Given the description of an element on the screen output the (x, y) to click on. 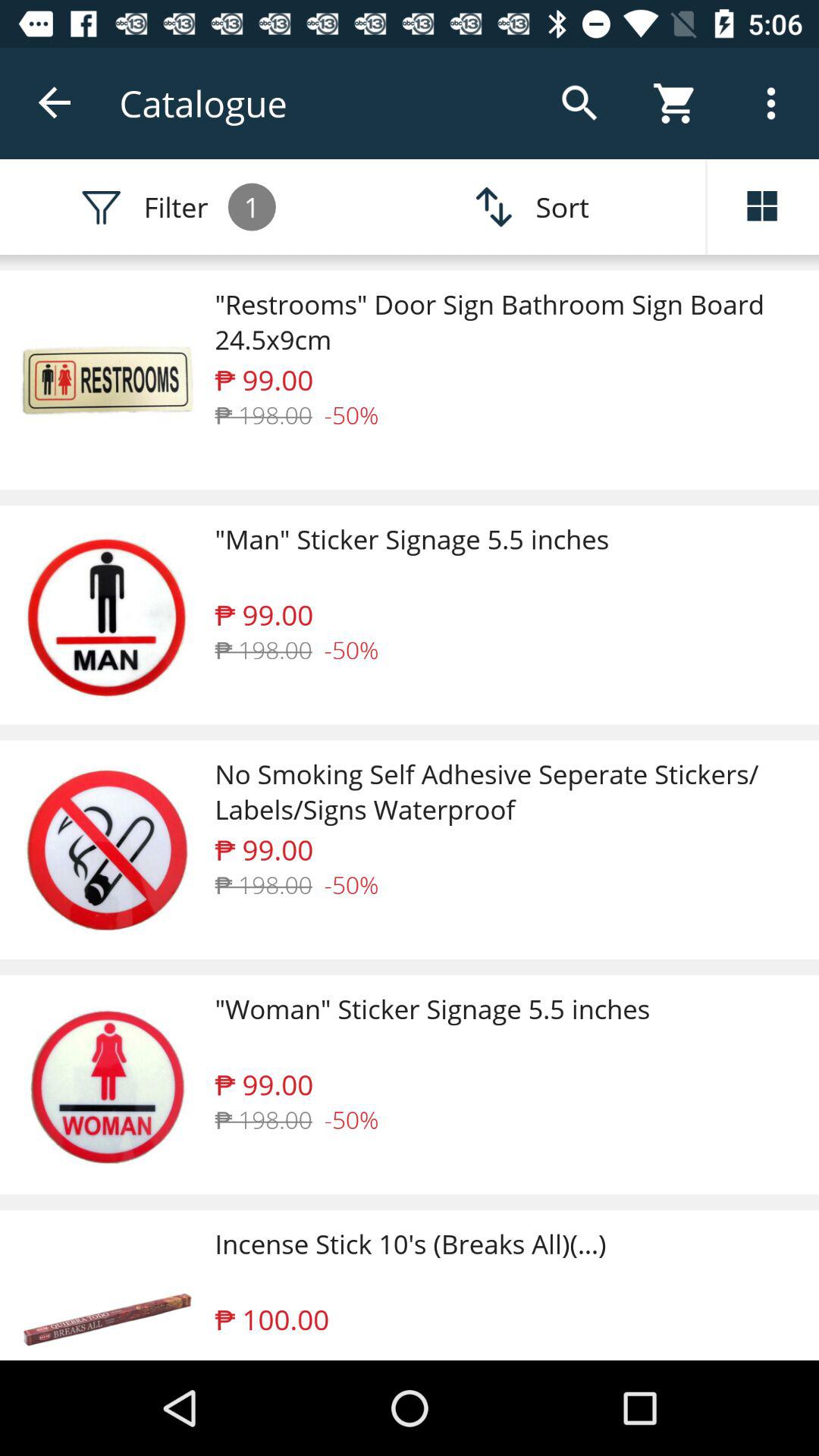
go back (55, 103)
